Given the description of an element on the screen output the (x, y) to click on. 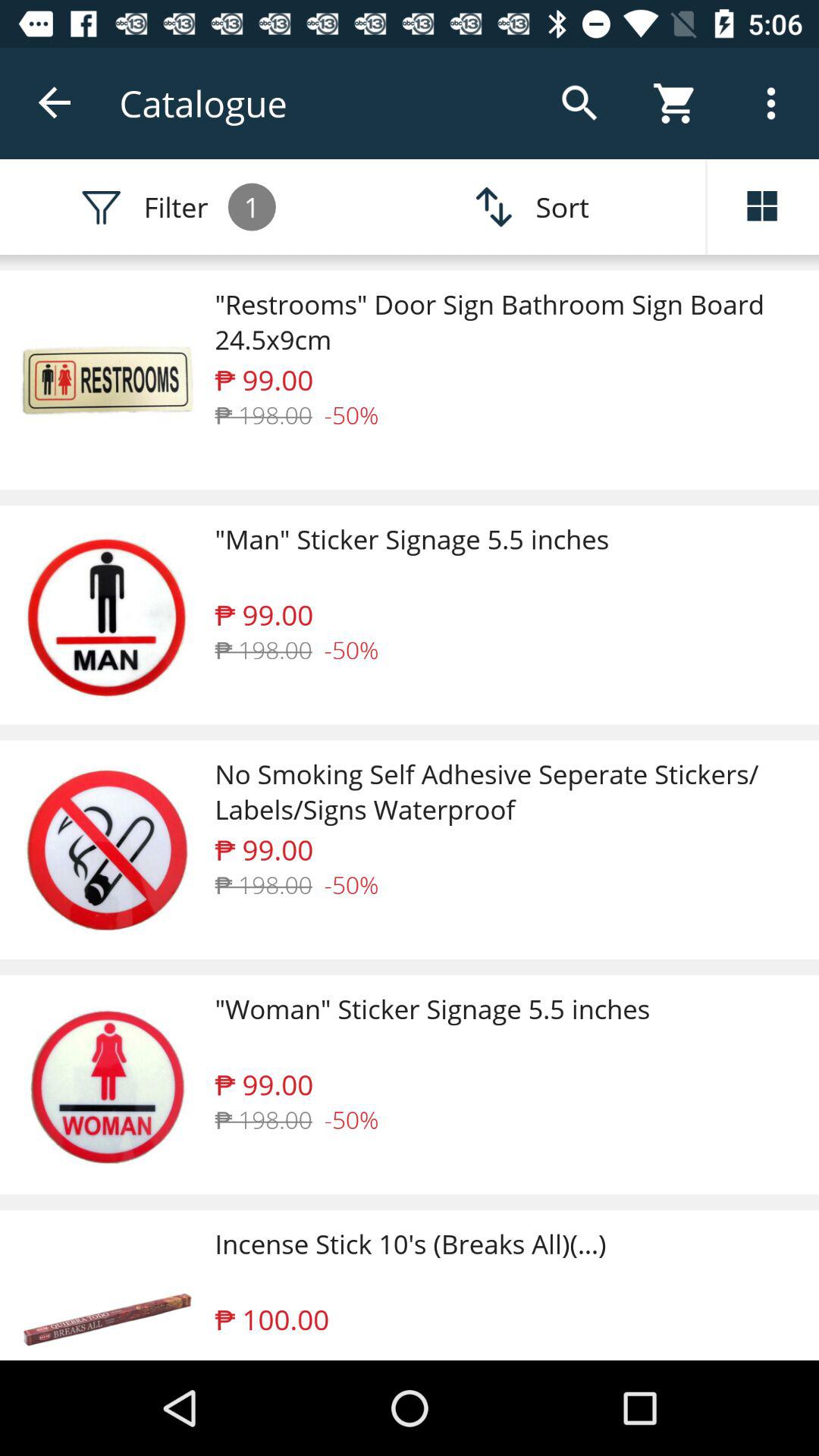
go back (55, 103)
